Given the description of an element on the screen output the (x, y) to click on. 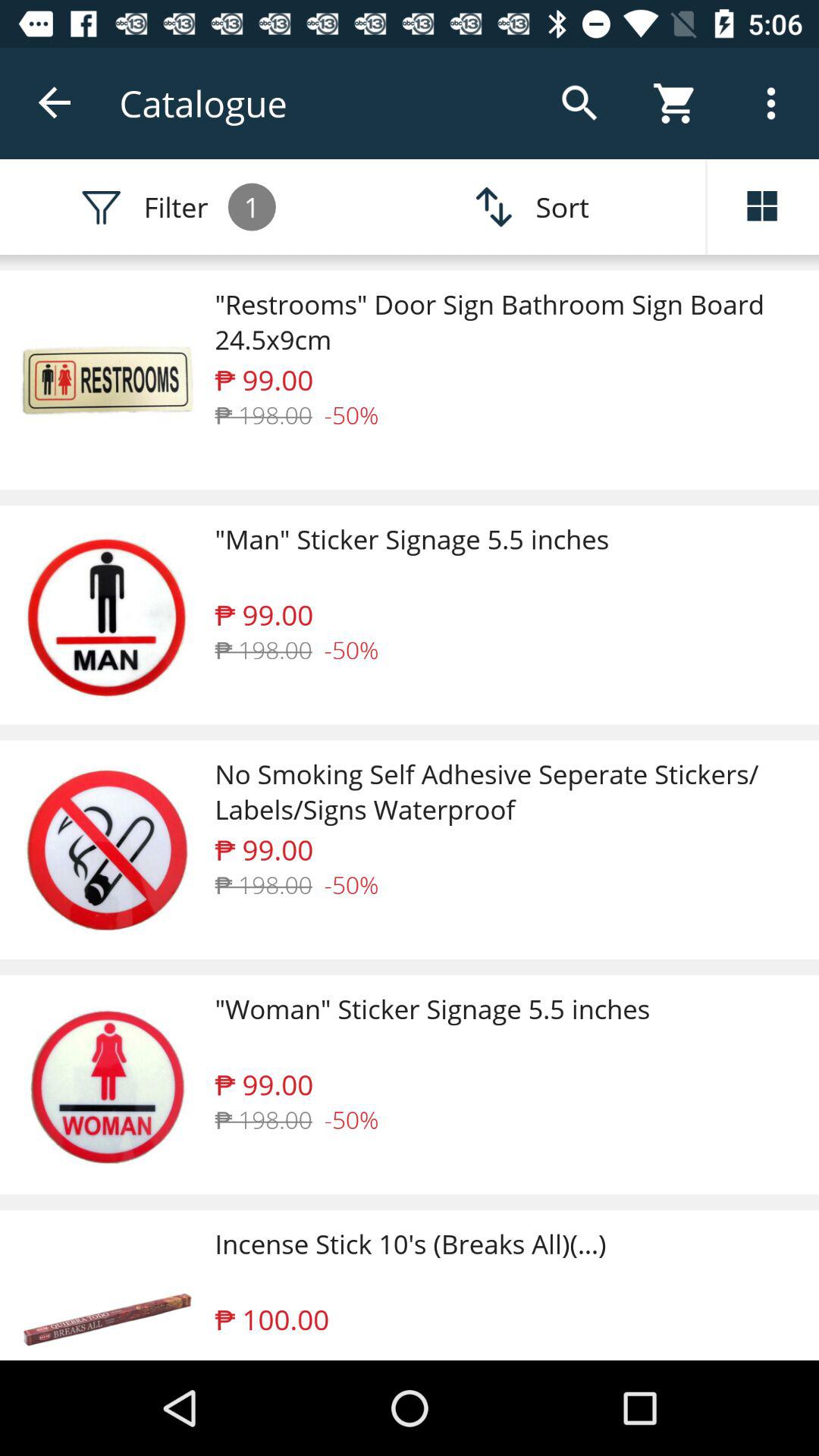
go back (55, 103)
